Given the description of an element on the screen output the (x, y) to click on. 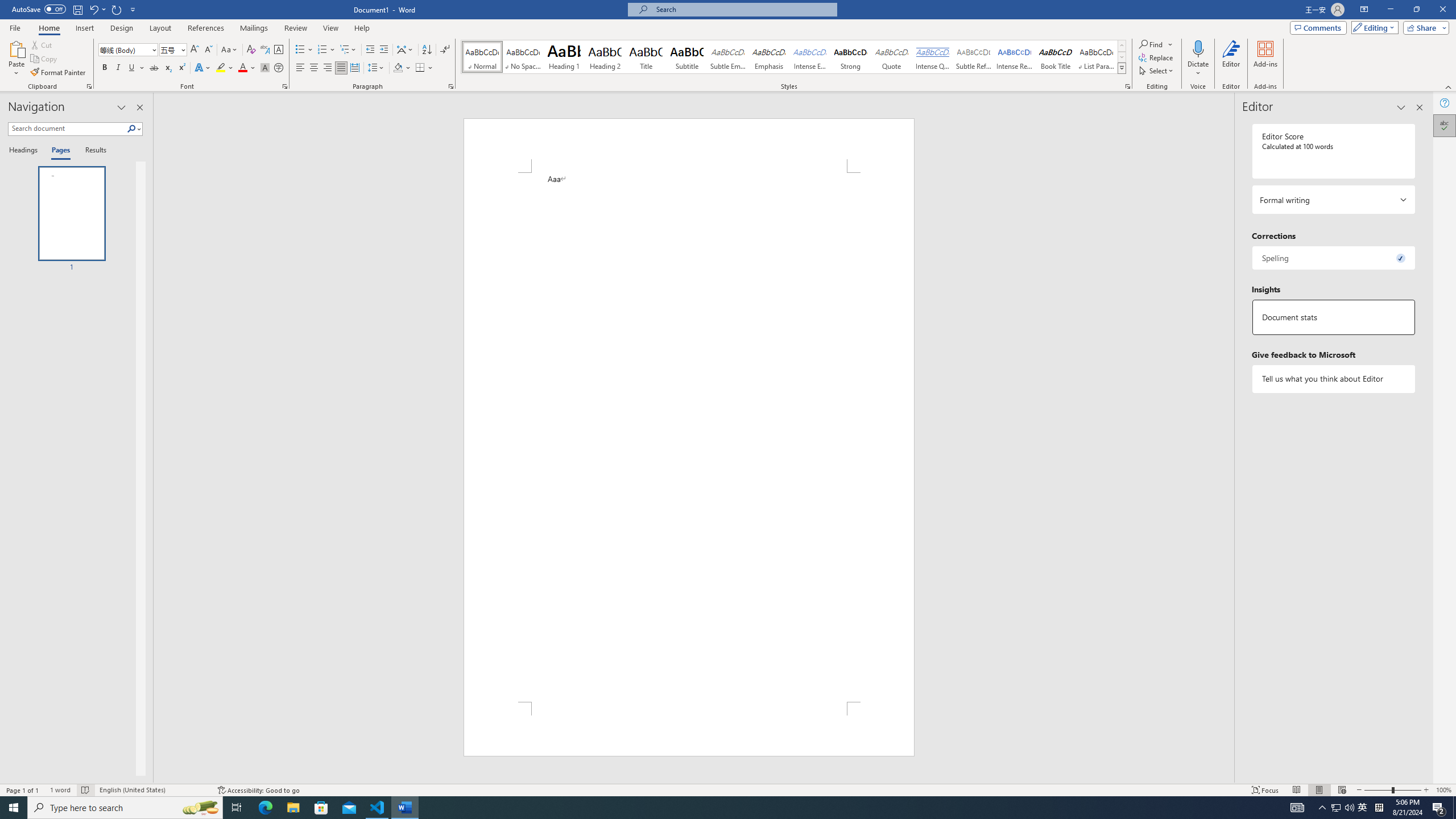
Heading 2 (605, 56)
Spelling, 0 issues. Press space or enter to review items. (1333, 257)
